Given the description of an element on the screen output the (x, y) to click on. 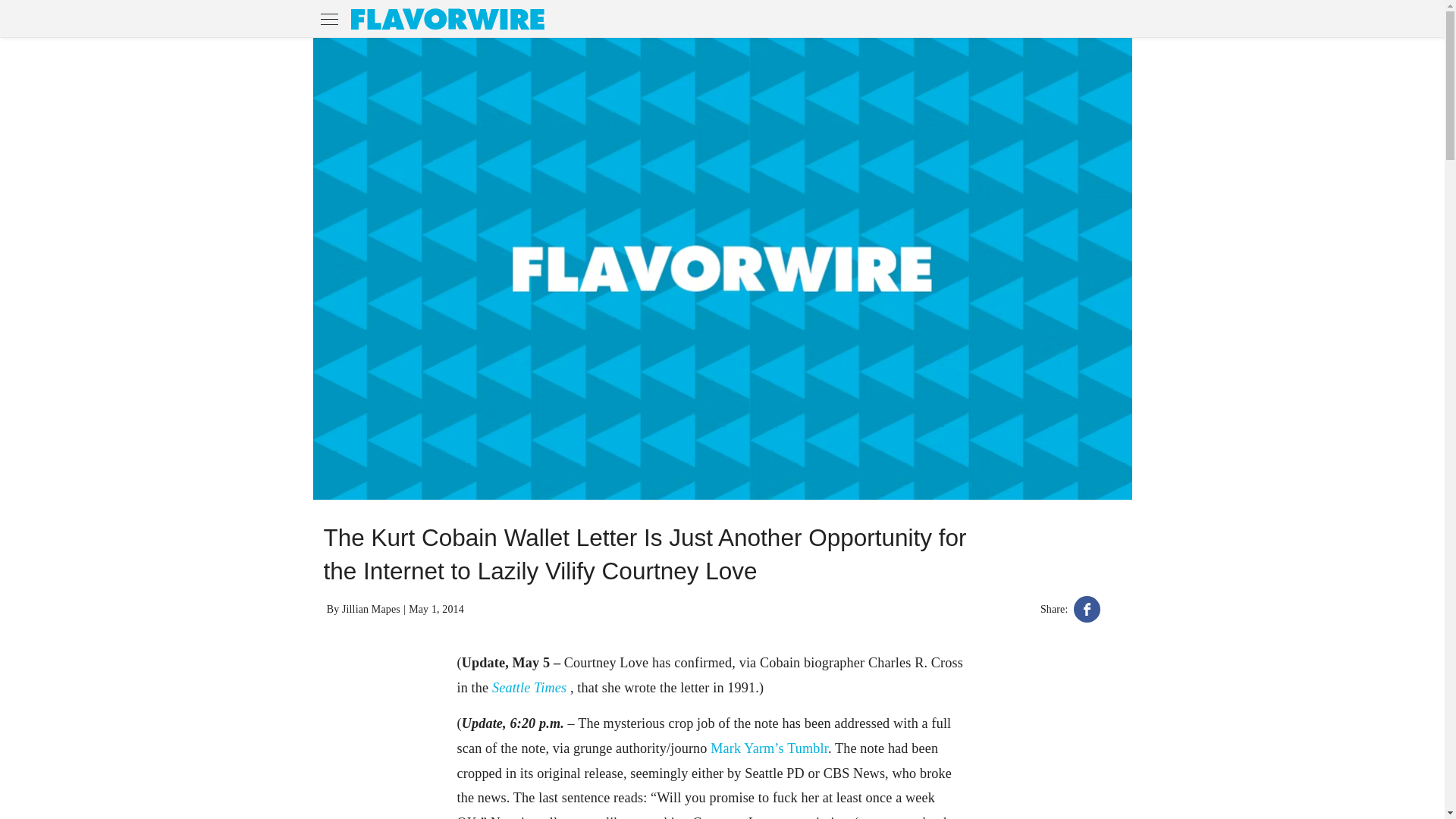
Flavorwire (447, 18)
Share (1087, 611)
Seattle Times (531, 687)
